Given the description of an element on the screen output the (x, y) to click on. 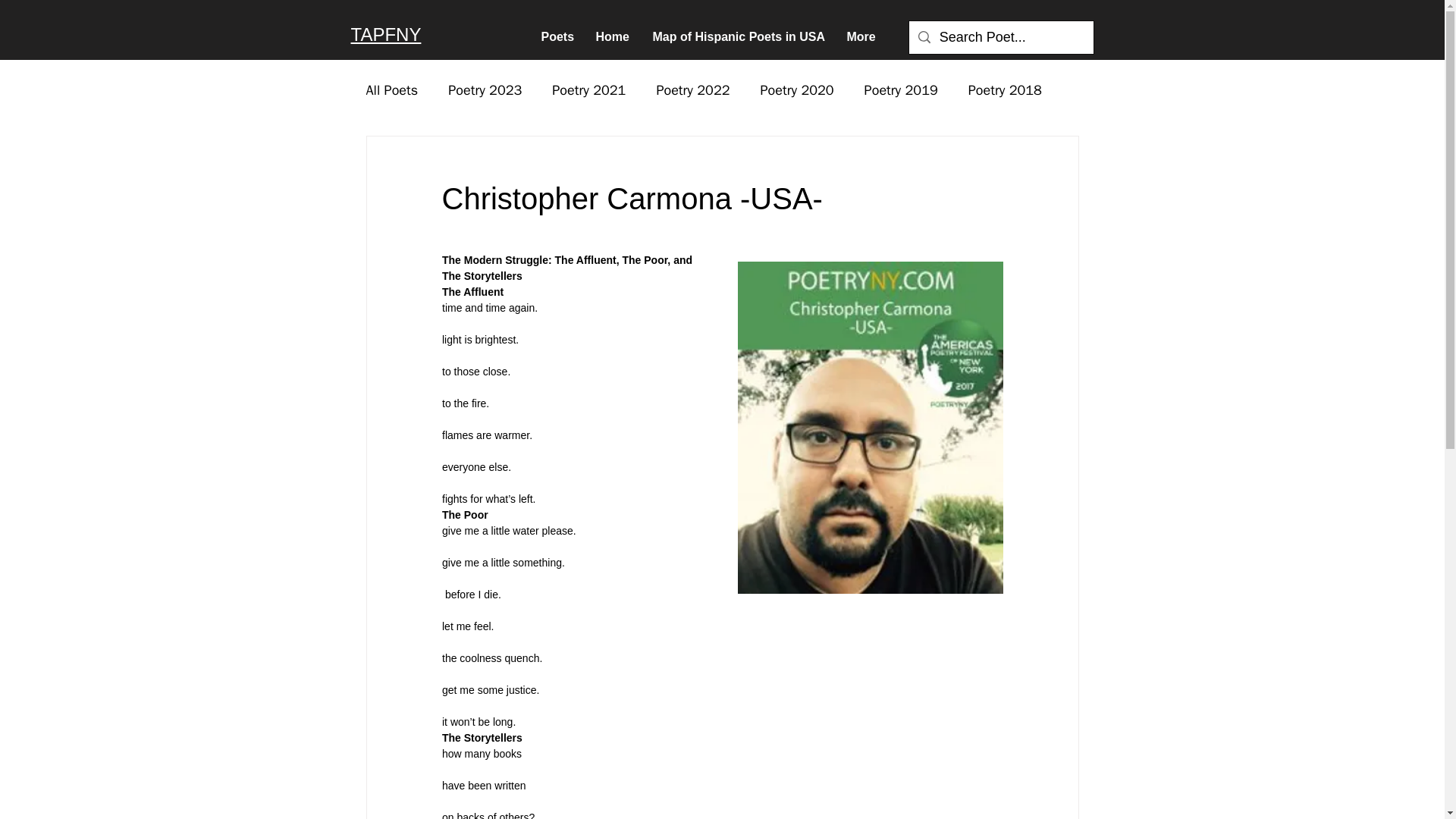
Map of Hispanic Poets in USA (738, 37)
Poetry 2020 (796, 90)
Home (611, 37)
All Poets (391, 90)
Poetry 2023 (484, 90)
Poetry 2022 (692, 90)
Poetry 2018 (1005, 90)
Poetry 2019 (900, 90)
Poets (556, 37)
Poetry 2021 (588, 90)
